Given the description of an element on the screen output the (x, y) to click on. 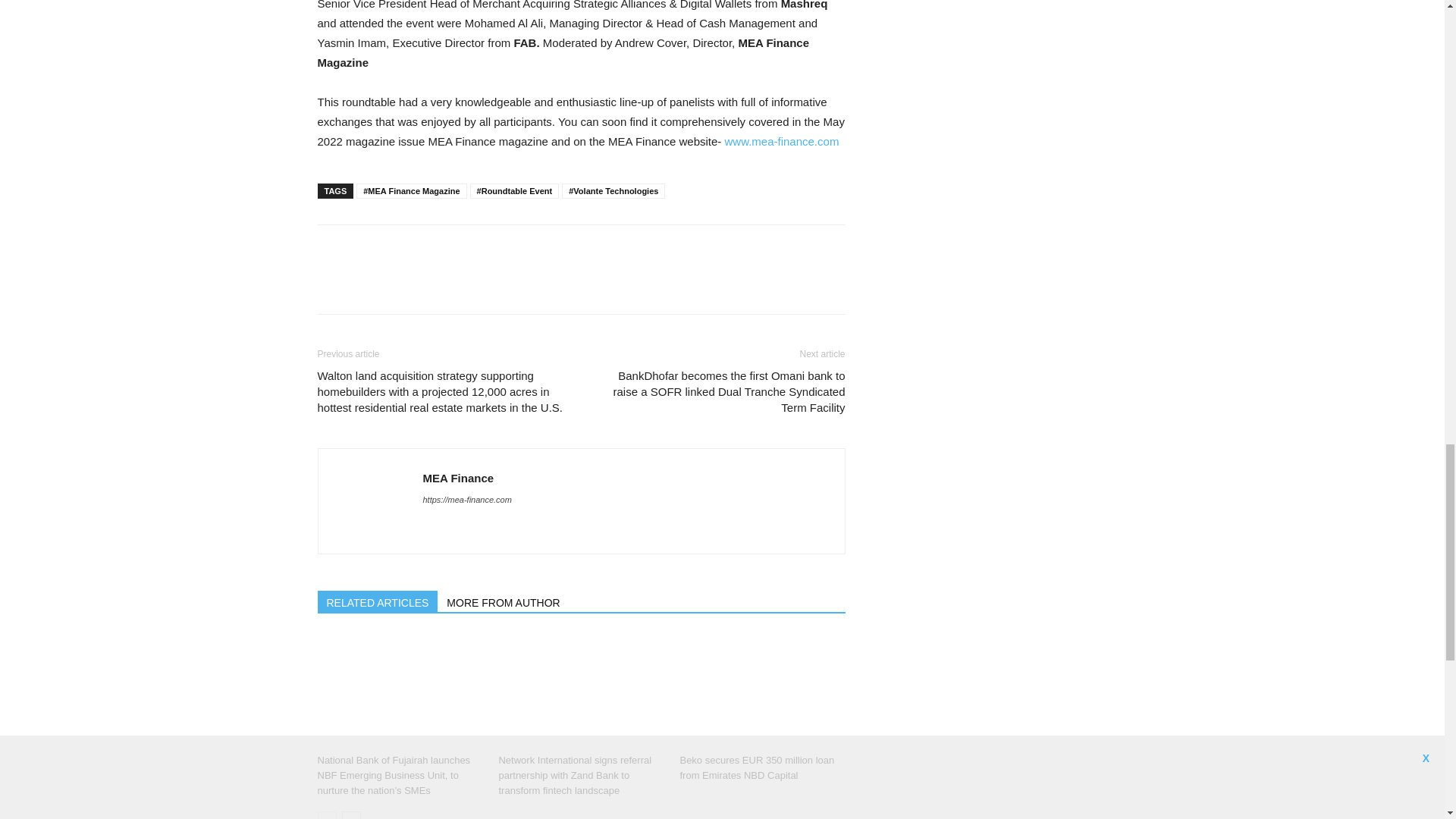
Beko secures EUR 350 million loan from Emirates NBD Capital (761, 690)
